Given the description of an element on the screen output the (x, y) to click on. 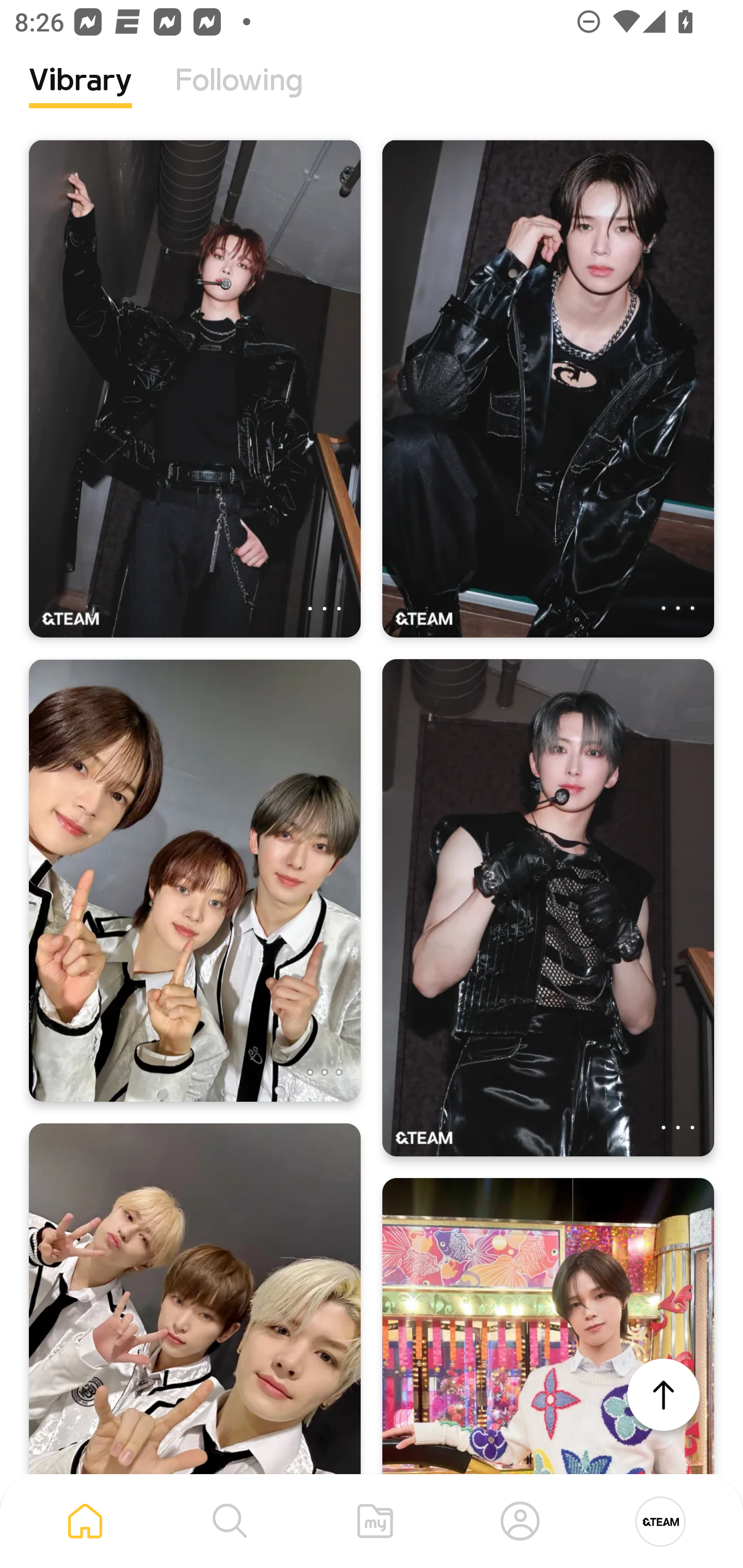
Vibrary (80, 95)
Following (239, 95)
